Given the description of an element on the screen output the (x, y) to click on. 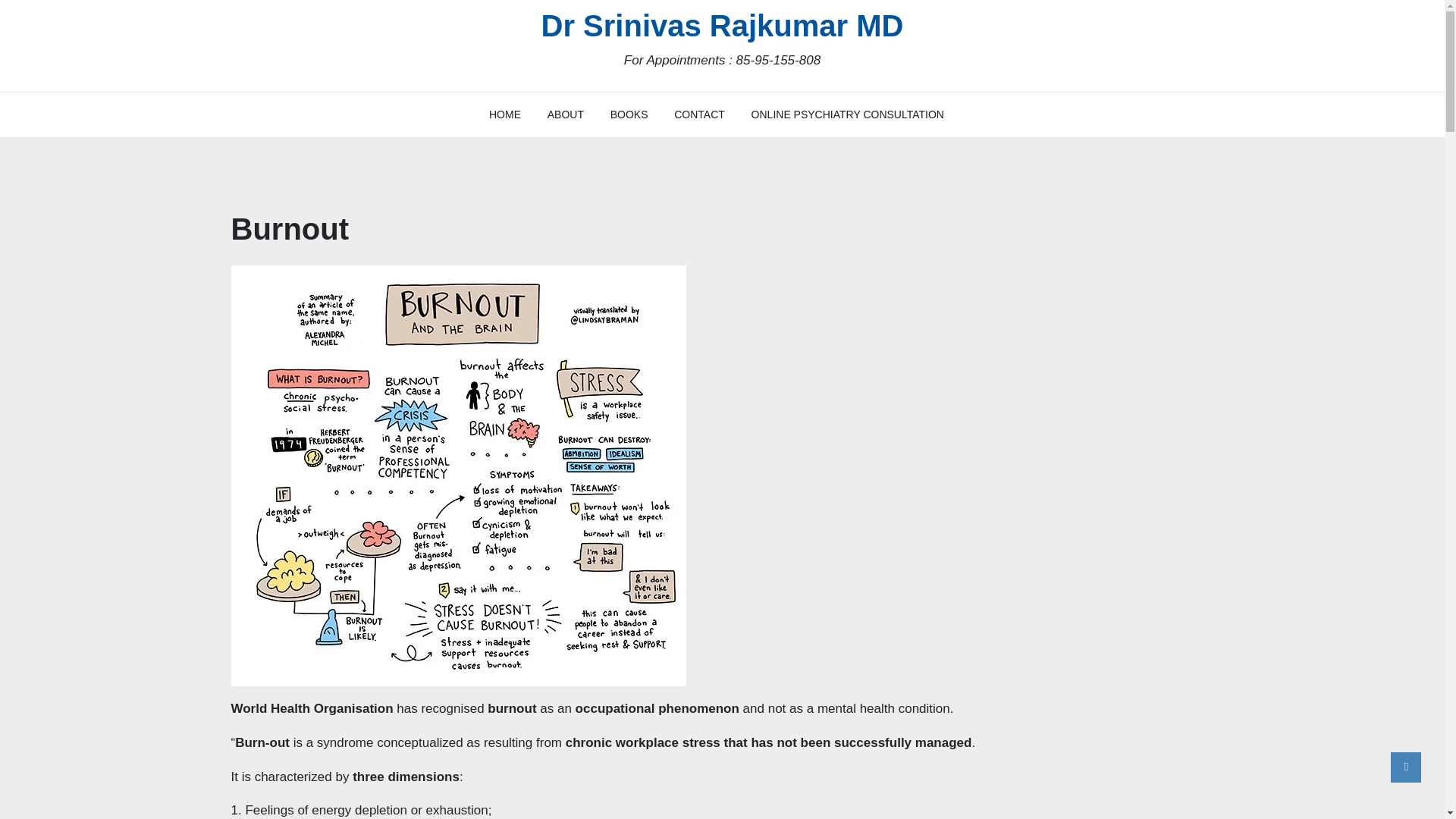
CONTACT (699, 115)
BOOKS (628, 115)
ABOUT (565, 115)
HOME (510, 115)
ONLINE PSYCHIATRY CONSULTATION (847, 115)
Dr Srinivas Rajkumar MD (722, 25)
